Given the description of an element on the screen output the (x, y) to click on. 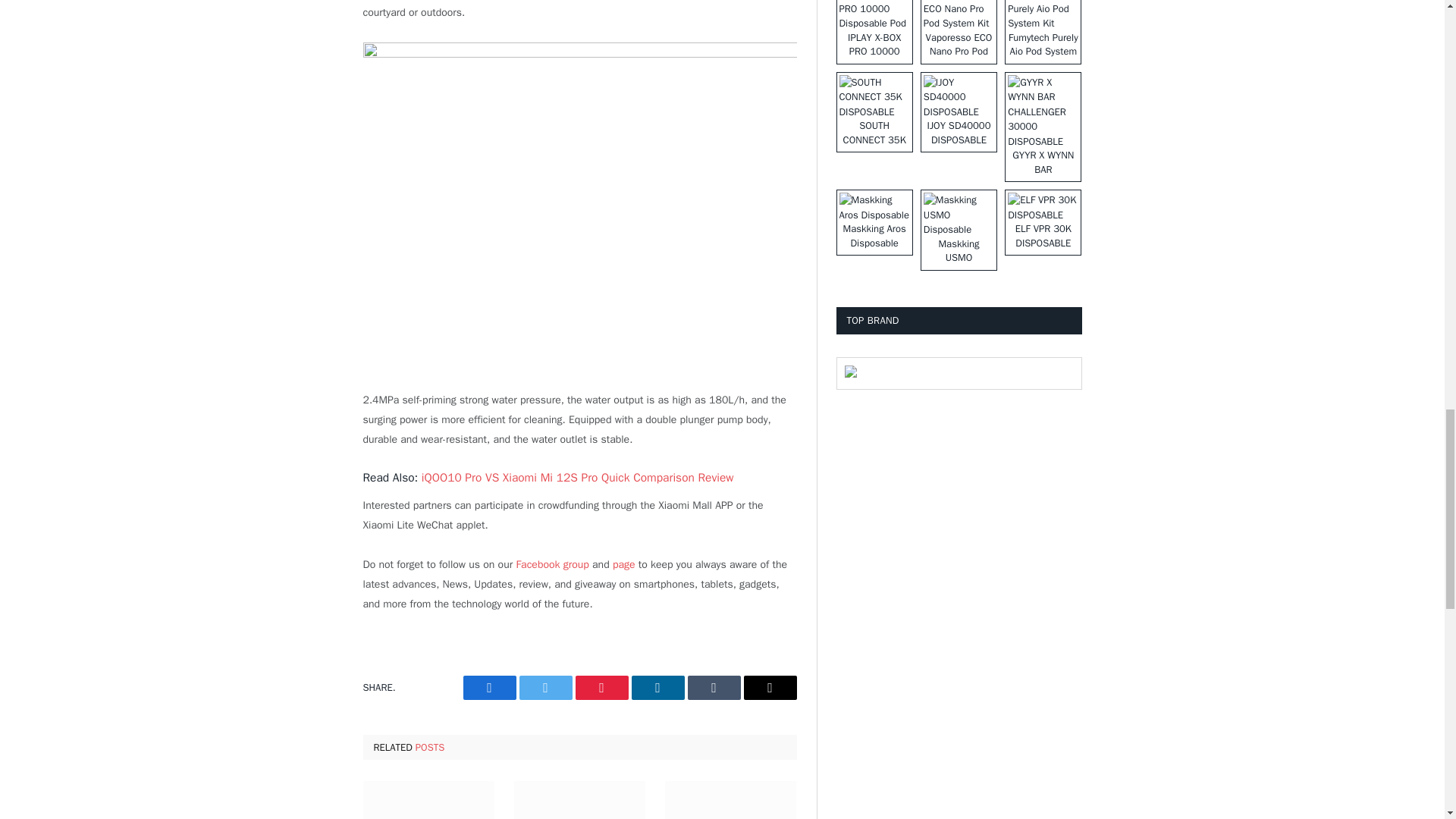
Share on Twitter (545, 687)
Share on Facebook (489, 687)
iQOO10 Pro VS Xiaomi Mi 12S Pro Quick Comparison Review (577, 477)
